Given the description of an element on the screen output the (x, y) to click on. 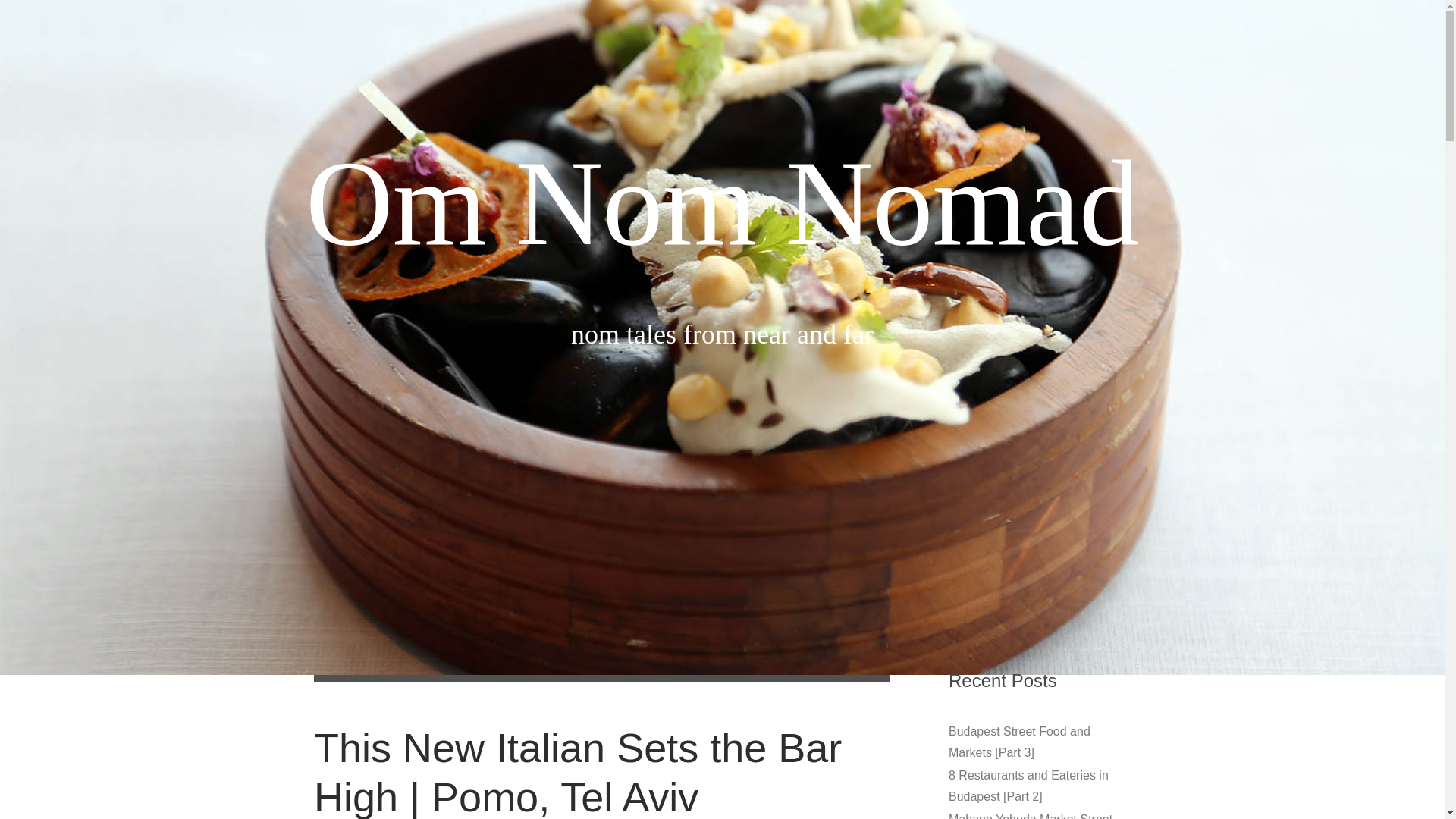
Om Nom Nomad (721, 203)
PRODUCT REVIEWS (817, 514)
BY LOCATION (603, 514)
HOME (520, 514)
ABOUT (921, 514)
BY CUISINE (702, 514)
